Given the description of an element on the screen output the (x, y) to click on. 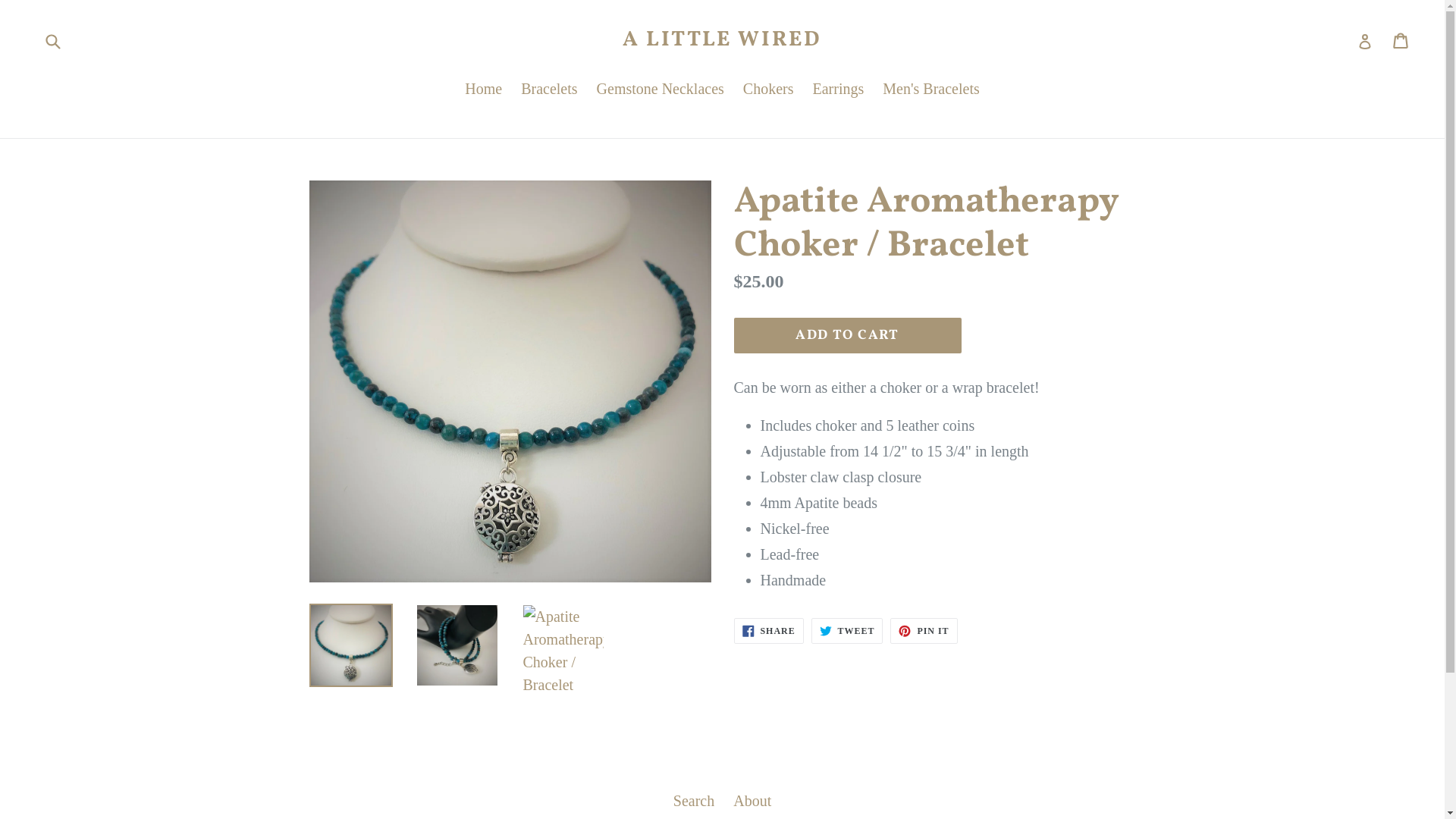
Search Element type: text (693, 800)
SHARE
SHARE ON FACEBOOK Element type: text (768, 630)
Cart
Cart Element type: text (1401, 39)
PIN IT
PIN ON PINTEREST Element type: text (923, 630)
Log in Element type: text (1364, 39)
Submit Element type: text (51, 39)
Home Element type: text (483, 89)
Gemstone Necklaces Element type: text (660, 89)
A LITTLE WIRED Element type: text (722, 40)
Earrings Element type: text (838, 89)
Bracelets Element type: text (548, 89)
Chokers Element type: text (768, 89)
ADD TO CART Element type: text (847, 335)
About Element type: text (752, 800)
Men's Bracelets Element type: text (930, 89)
TWEET
TWEET ON TWITTER Element type: text (847, 630)
